Given the description of an element on the screen output the (x, y) to click on. 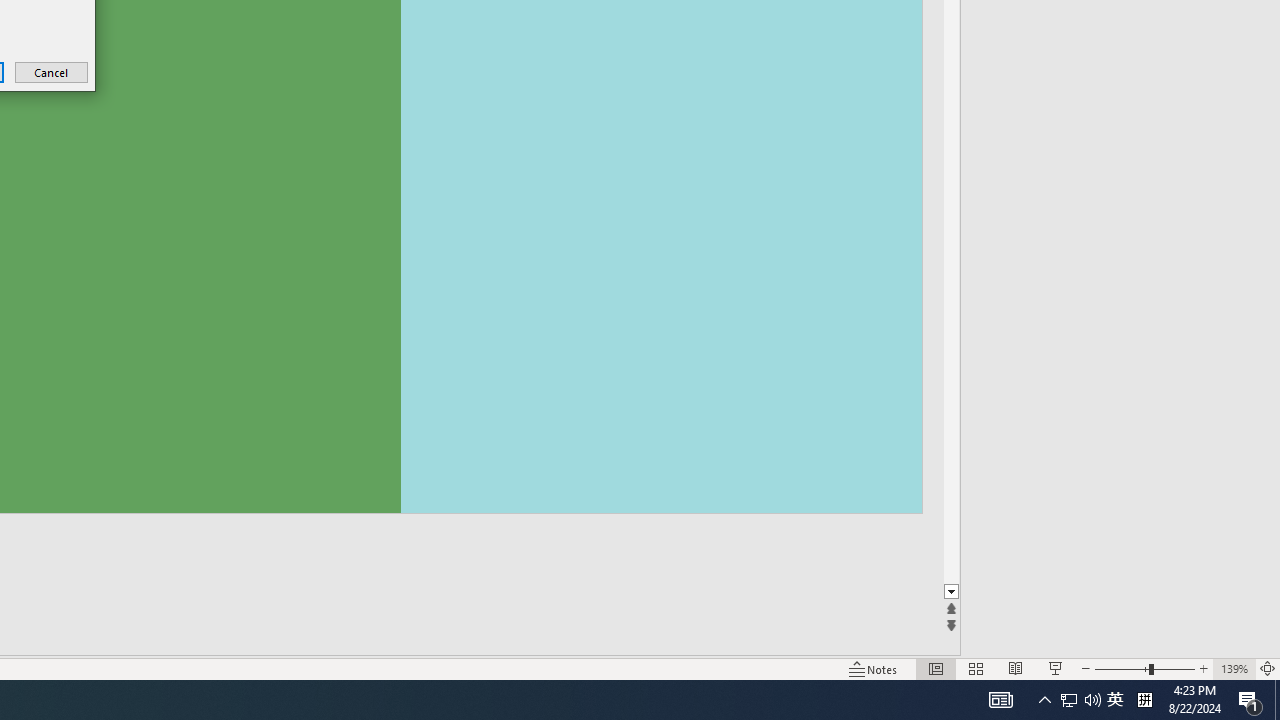
Q2790: 100% (1069, 699)
Tray Input Indicator - Chinese (Simplified, China) (1092, 699)
Zoom 139% (1144, 699)
Notes  (1234, 668)
Slide Show (874, 668)
